Given the description of an element on the screen output the (x, y) to click on. 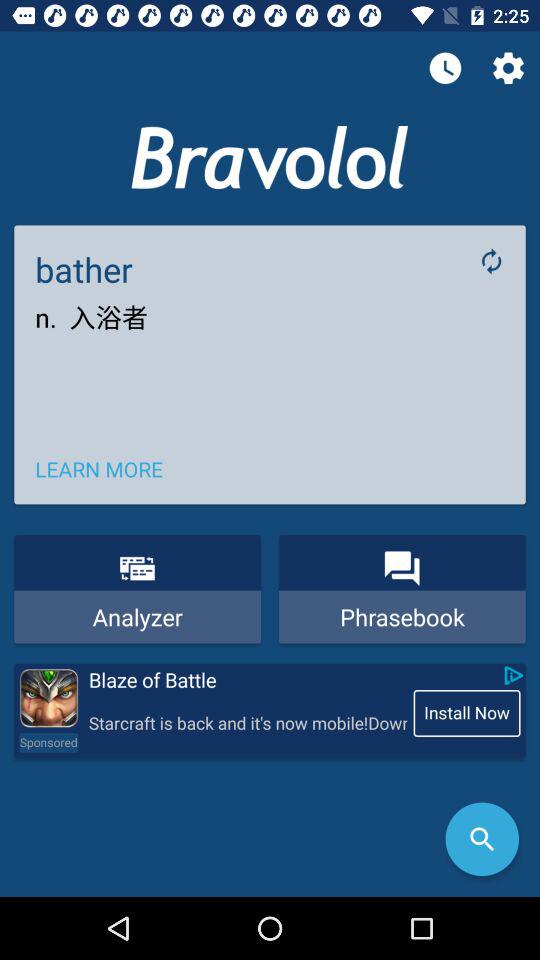
flip until sponsored (48, 742)
